Given the description of an element on the screen output the (x, y) to click on. 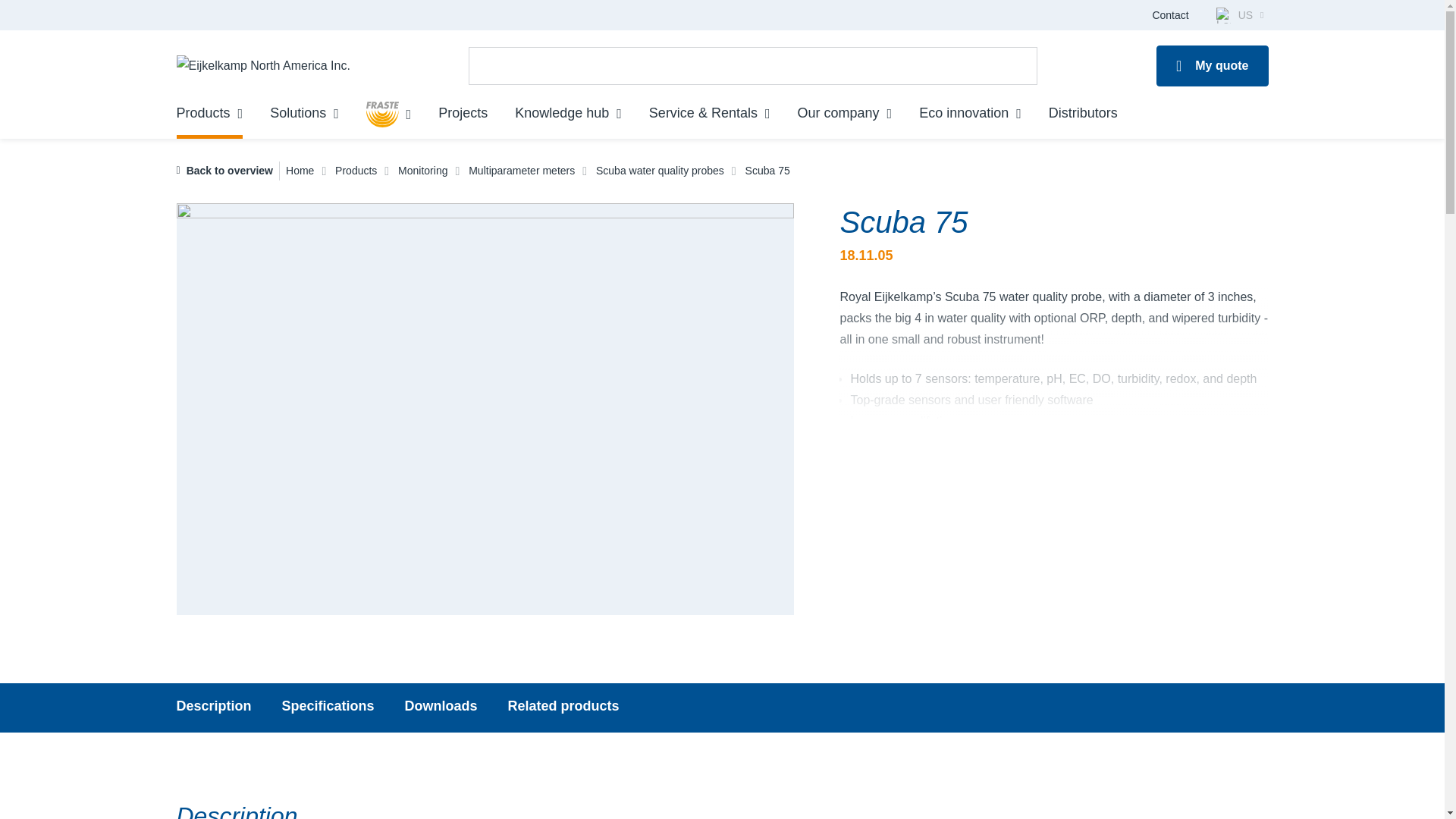
Related products (564, 708)
Related products (564, 708)
Description (213, 708)
US (1239, 15)
Specifications (328, 708)
My quote (1212, 65)
Downloads (440, 708)
Specifications (328, 708)
Downloads (440, 708)
Description (213, 708)
